Given the description of an element on the screen output the (x, y) to click on. 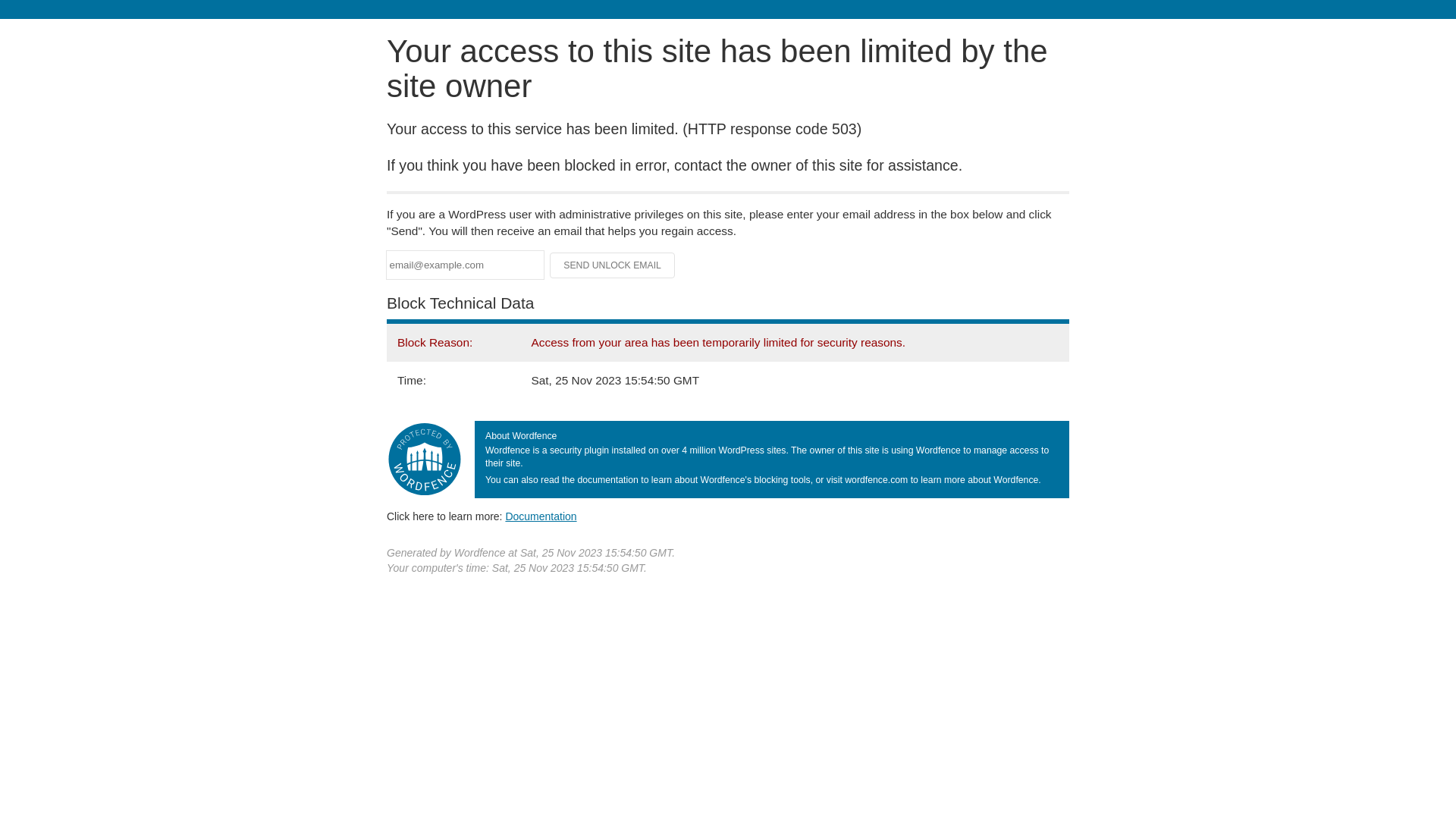
Documentation Element type: text (540, 516)
Send Unlock Email Element type: text (612, 265)
